Given the description of an element on the screen output the (x, y) to click on. 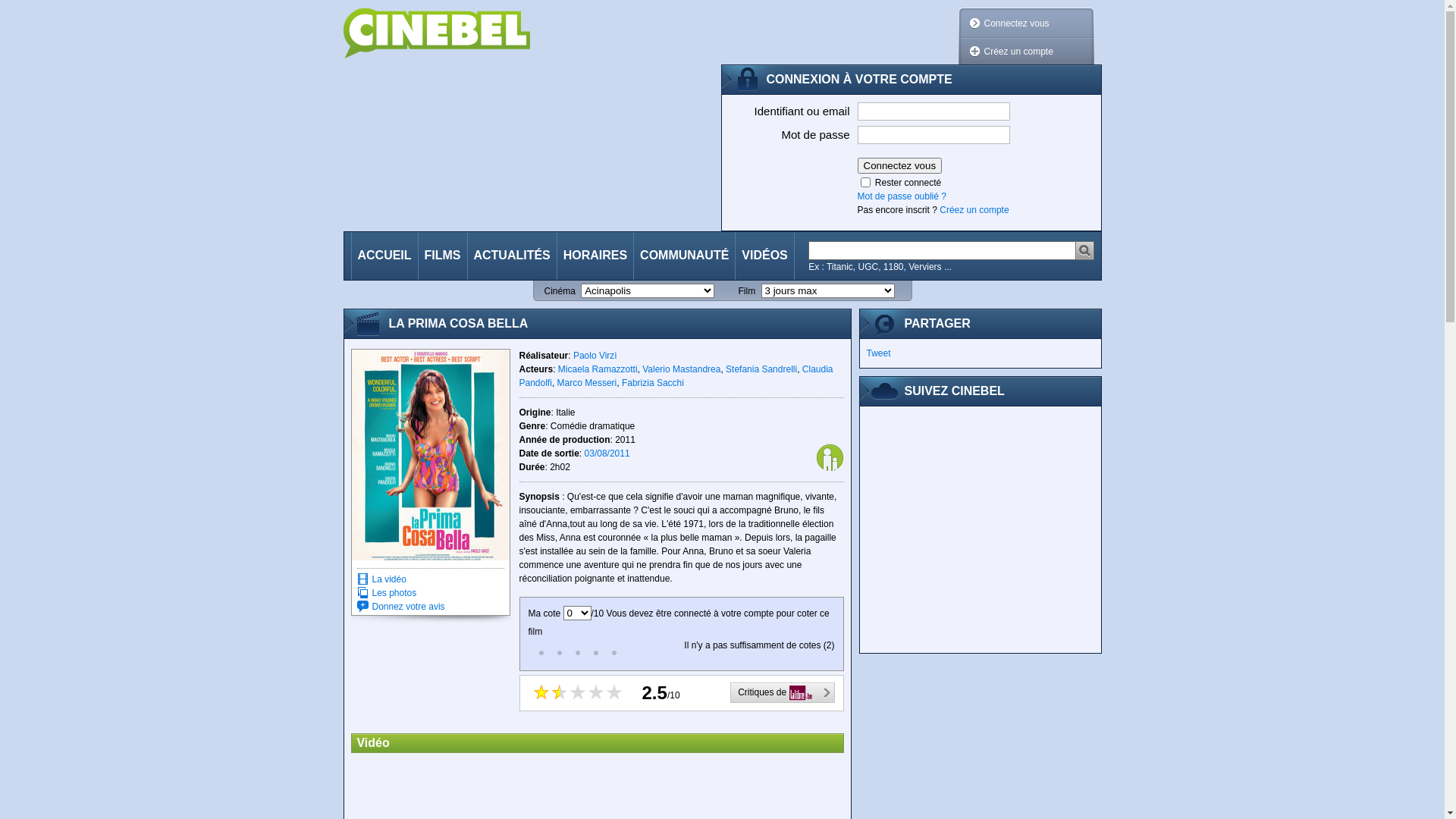
ACCUEIL Element type: text (384, 255)
Fabrizia Sacchi Element type: text (652, 382)
Marco Messeri Element type: text (587, 382)
Chercher Element type: hover (942, 249)
Tout public Element type: hover (829, 457)
Tweet Element type: text (878, 353)
Donnez votre avis Element type: text (407, 606)
HORAIRES Element type: text (595, 255)
FILMS Element type: text (442, 255)
2.5/10 
Critiques de  Element type: text (680, 692)
Connectez vous Element type: text (1016, 23)
Connectez vous Element type: text (898, 165)
Stefania Sandrelli Element type: text (761, 369)
Les photos Element type: text (393, 592)
03/08/2011 Element type: text (607, 453)
Afficher l'affiche en grand format Element type: hover (430, 454)
Claudia Pandolfi Element type: text (675, 376)
Micaela Ramazzotti Element type: text (597, 369)
Valerio Mastandrea Element type: text (681, 369)
